Given the description of an element on the screen output the (x, y) to click on. 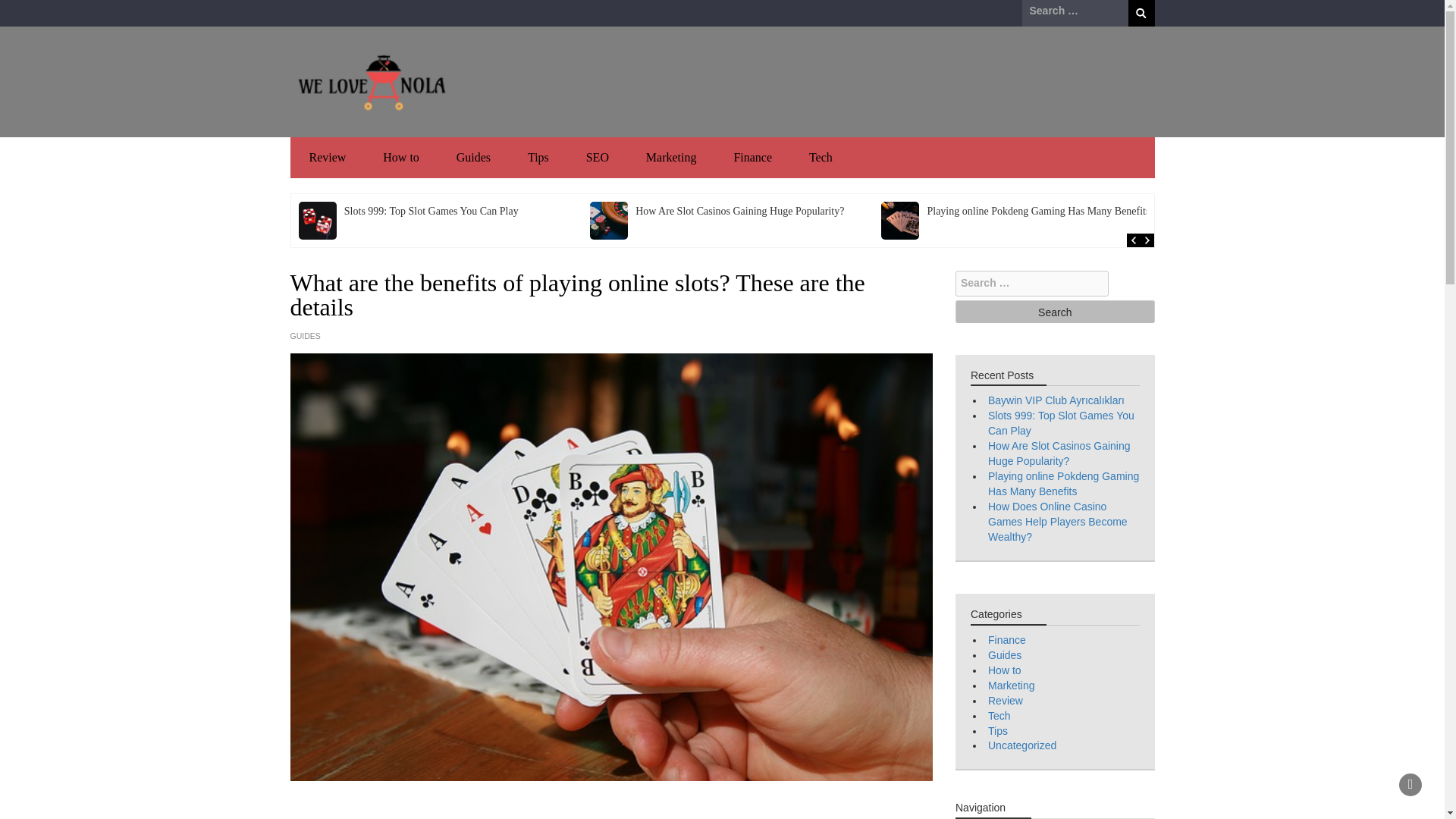
Playing online Pokdeng Gaming Has Many Benefits (1063, 483)
Review (327, 157)
Search for: (1031, 283)
Tech (820, 157)
SEO (597, 157)
Search (1141, 13)
Finance (752, 157)
How Are Slot Casinos Gaining Huge Popularity? (1059, 452)
Search (1054, 311)
Marketing (670, 157)
Slots 999: Top Slot Games You Can Play (1061, 422)
Search (1054, 311)
Search (1141, 13)
Slots 999: Top Slot Games You Can Play (430, 211)
How to (400, 157)
